Given the description of an element on the screen output the (x, y) to click on. 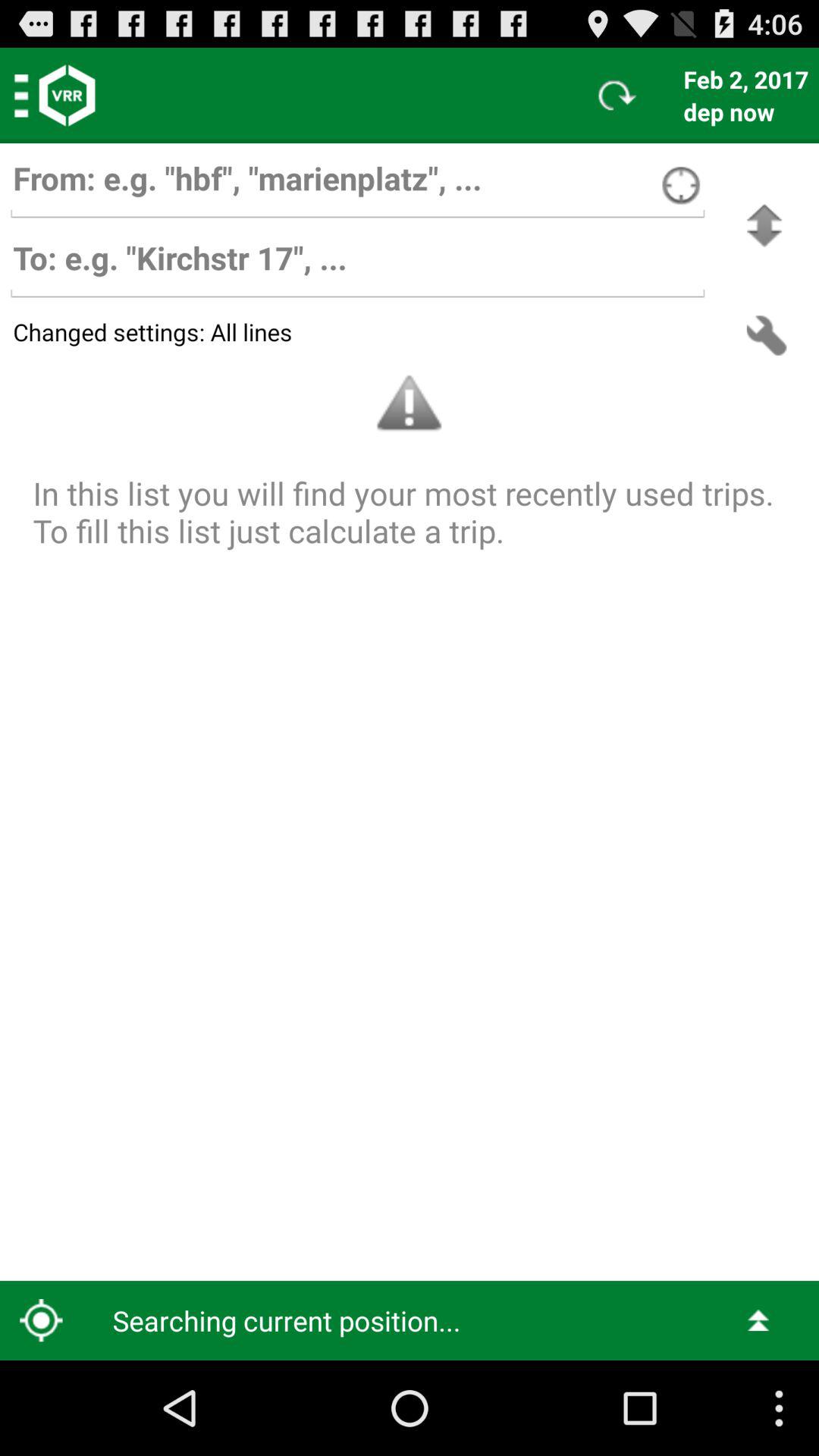
receiver (357, 265)
